Given the description of an element on the screen output the (x, y) to click on. 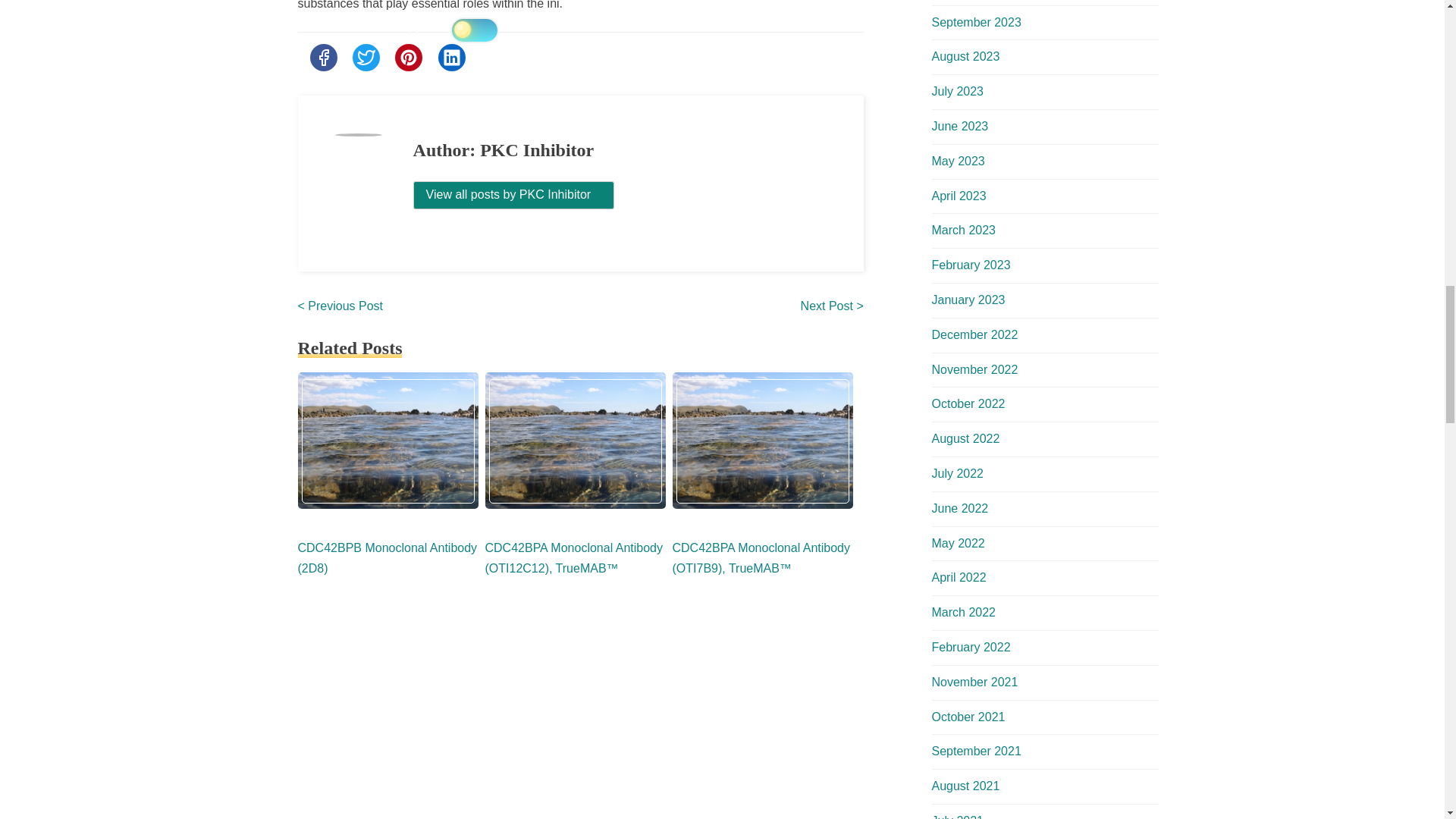
View all posts by PKC Inhibitor (513, 194)
Share this post on Facebook (322, 57)
View all posts by PKC Inhibitor (513, 194)
Share this post on Twitter (366, 57)
Share this post on Pinterest (408, 57)
Share this post on Linkedin (451, 57)
